Given the description of an element on the screen output the (x, y) to click on. 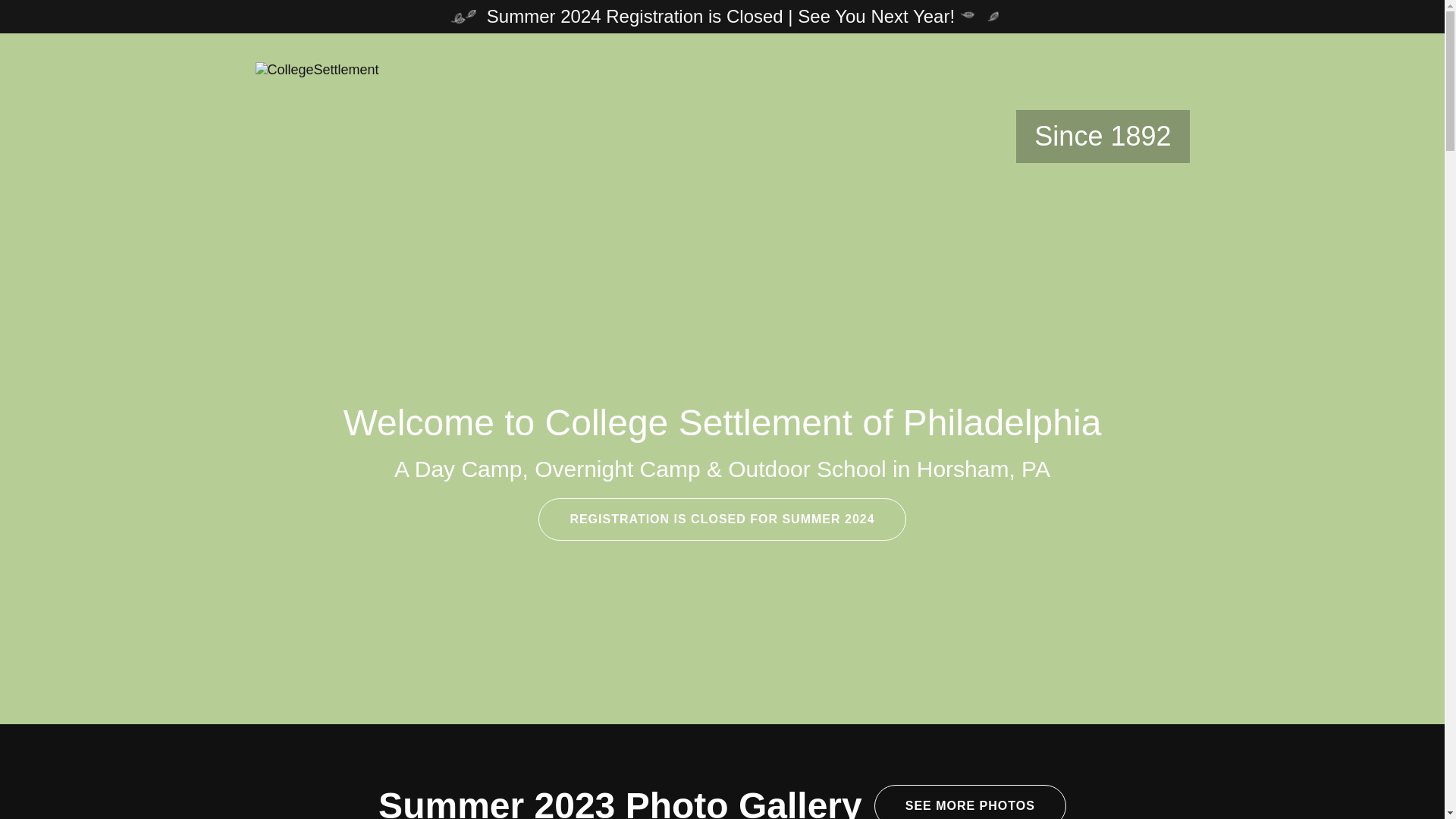
CollegeSettlement (316, 69)
